Given the description of an element on the screen output the (x, y) to click on. 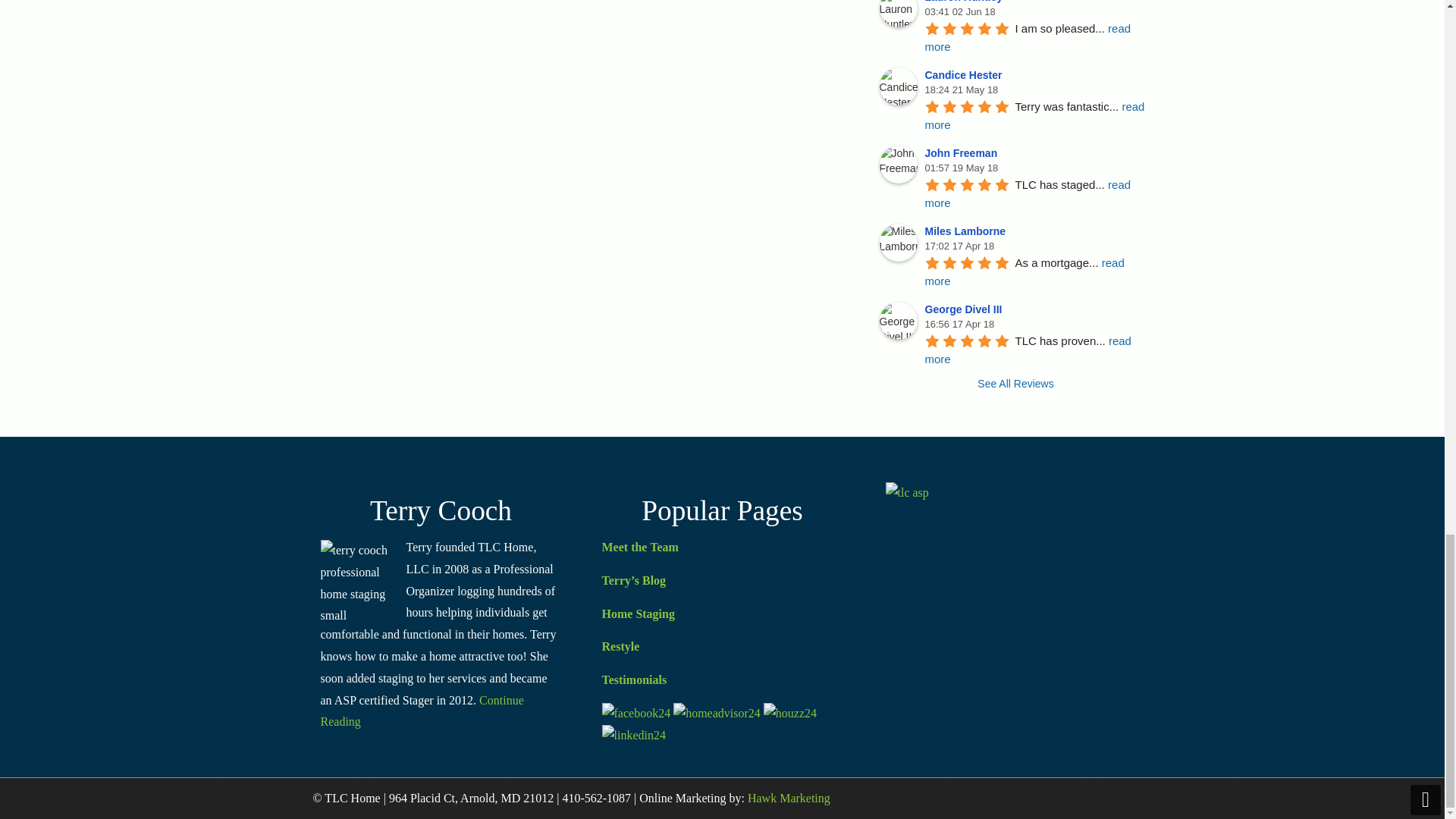
Continue Reading (421, 710)
John Freeman (963, 152)
Miles Lamborne (967, 231)
See All Reviews (1016, 383)
Candice Hester (965, 74)
George Divel III (965, 309)
Lauron Huntley (965, 1)
Meet the Team (640, 546)
